Given the description of an element on the screen output the (x, y) to click on. 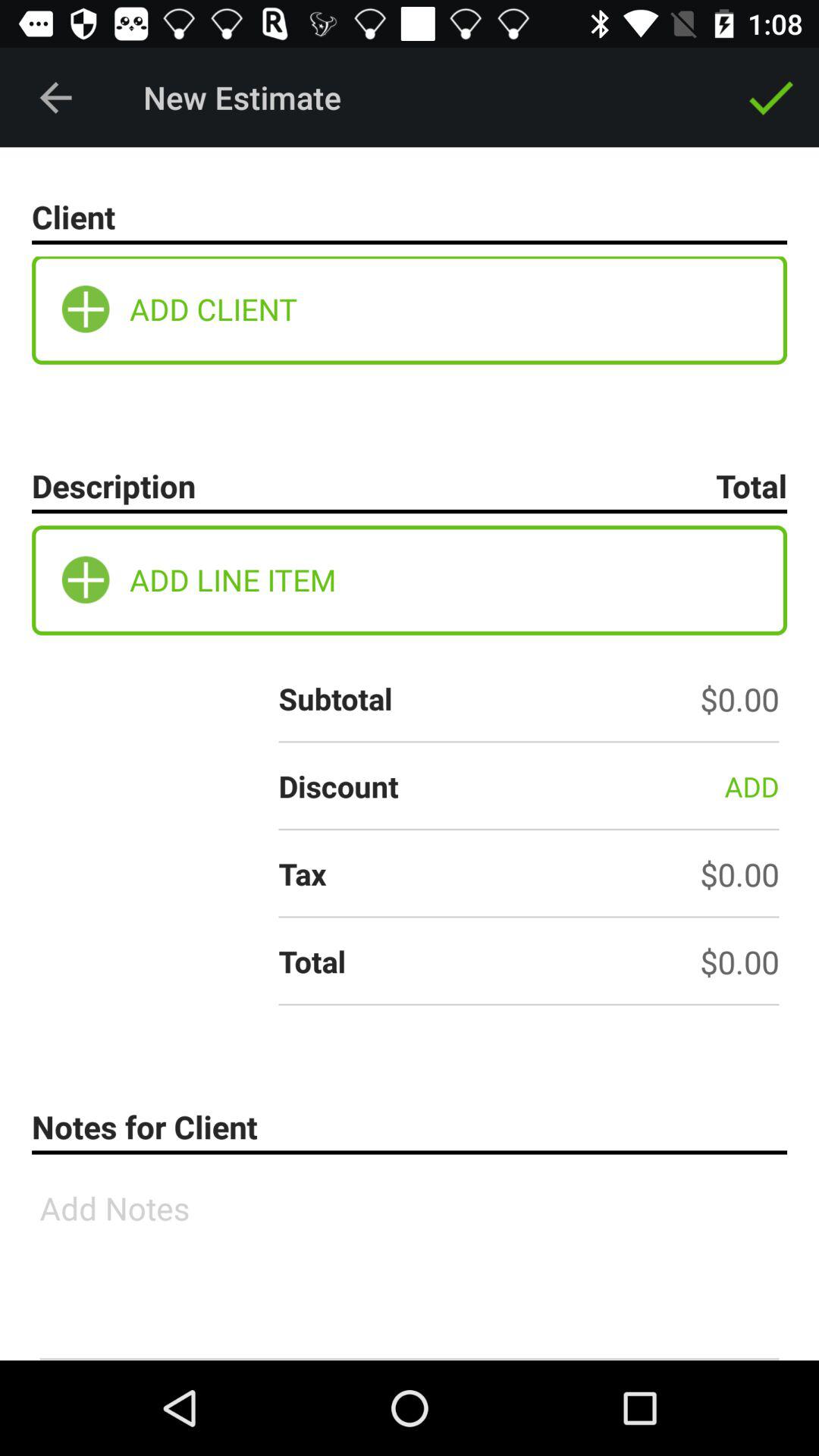
click icon next to new estimate item (771, 97)
